Given the description of an element on the screen output the (x, y) to click on. 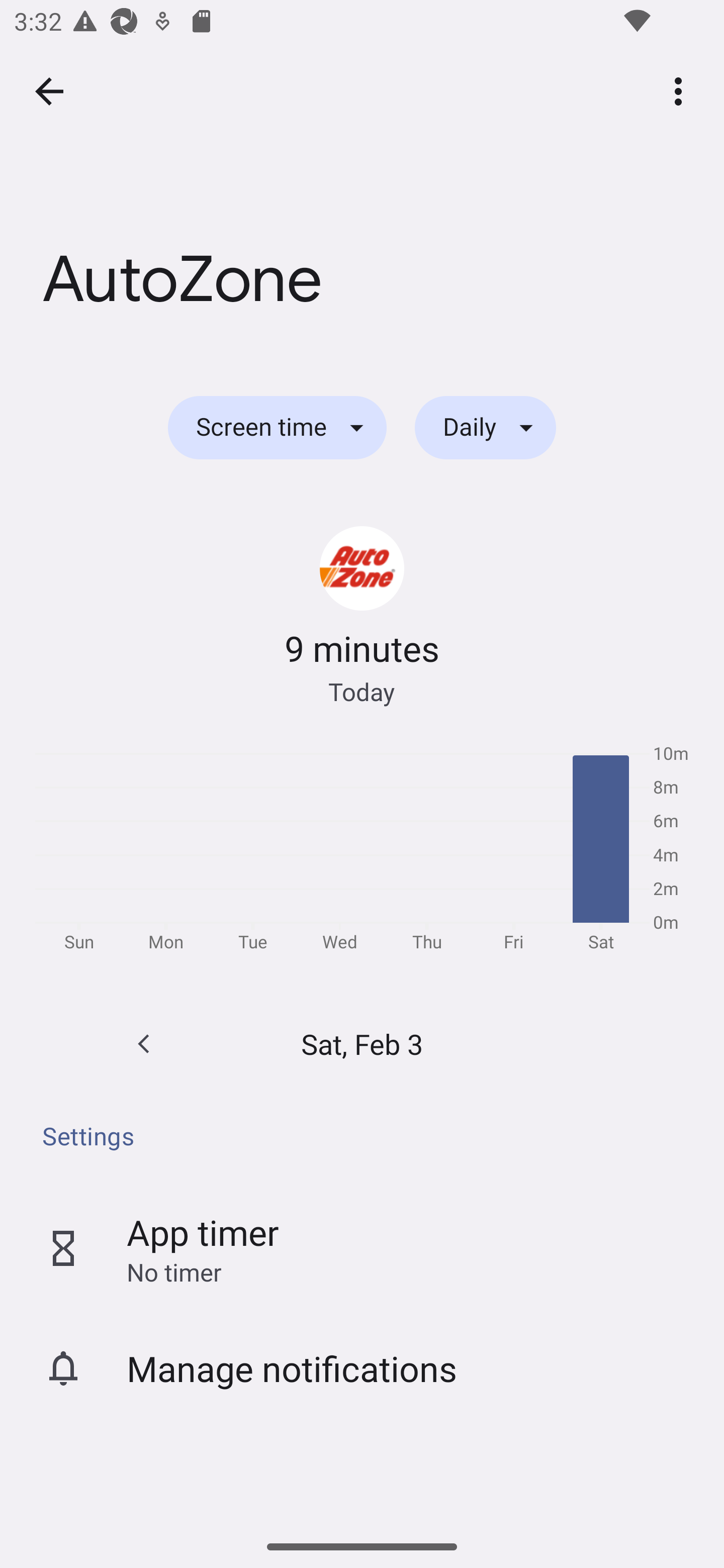
Navigate up (49, 91)
More options (681, 90)
Screen time (276, 427)
Daily (485, 427)
Go to the previous day (143, 1043)
App timer No timer (362, 1248)
Manage notifications (362, 1368)
